Given the description of an element on the screen output the (x, y) to click on. 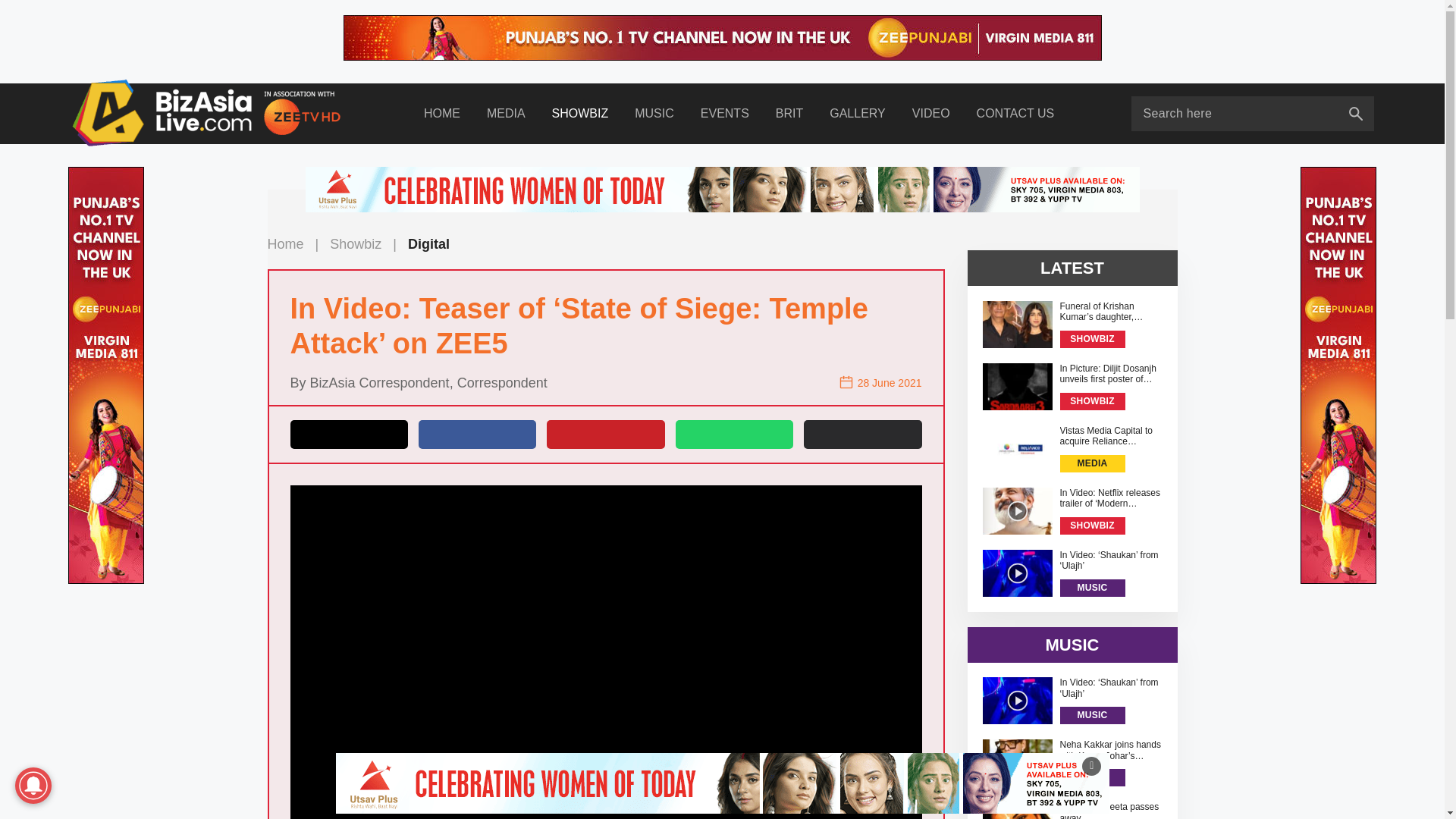
Top header Banner (721, 37)
Email (862, 434)
MEDIA (505, 113)
GALLERY (857, 113)
SHOWBIZ (579, 113)
HOME (441, 113)
MUSIC (654, 113)
Facebook (477, 434)
WhatsApp (734, 434)
X (348, 434)
Pinterest (605, 434)
EVENTS (724, 113)
